Given the description of an element on the screen output the (x, y) to click on. 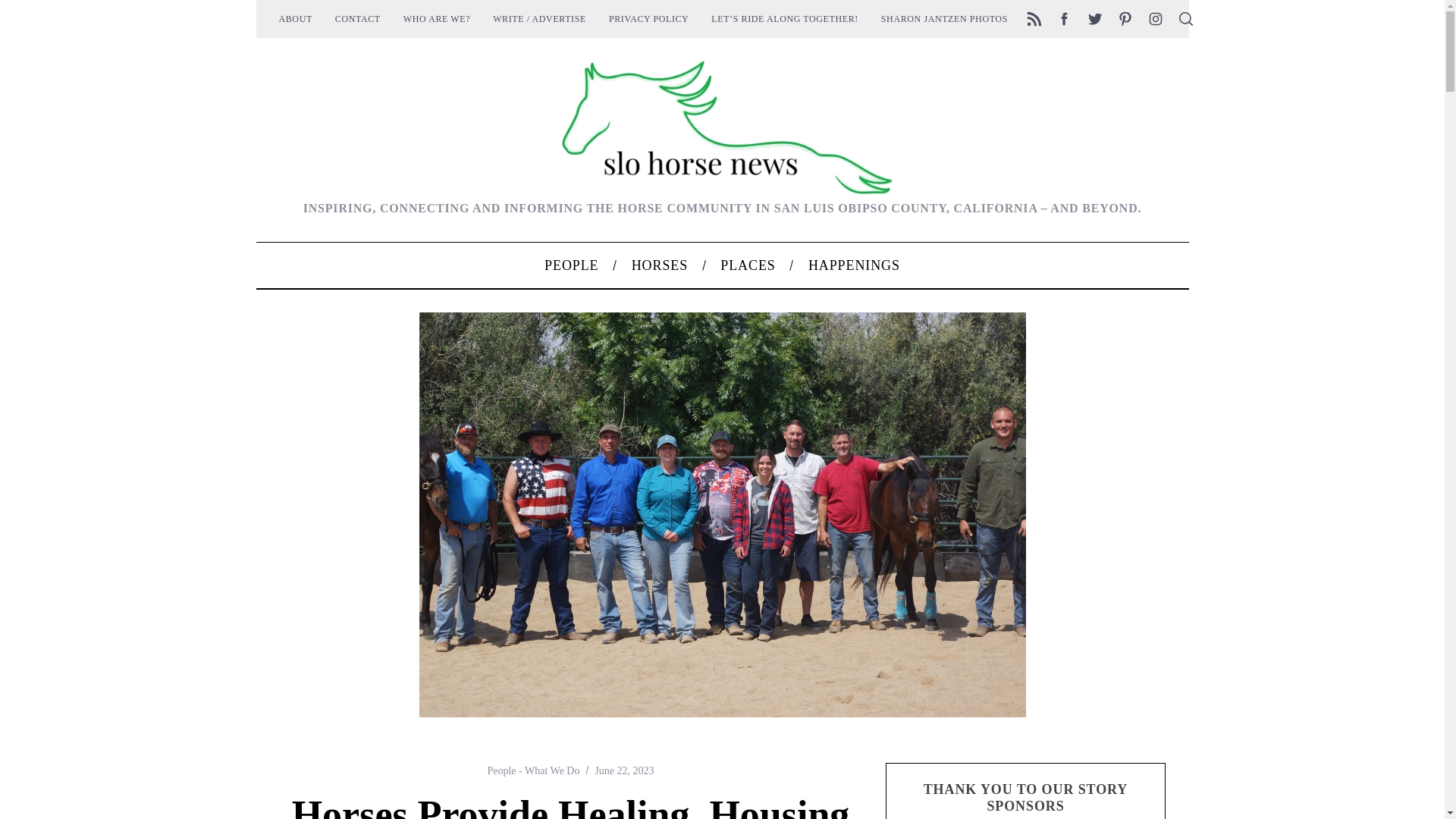
PLACES (748, 265)
PRIVACY POLICY (648, 18)
HORSES (659, 265)
PEOPLE (570, 265)
CONTACT (357, 18)
WHO ARE WE? (436, 18)
ABOUT (294, 18)
